Given the description of an element on the screen output the (x, y) to click on. 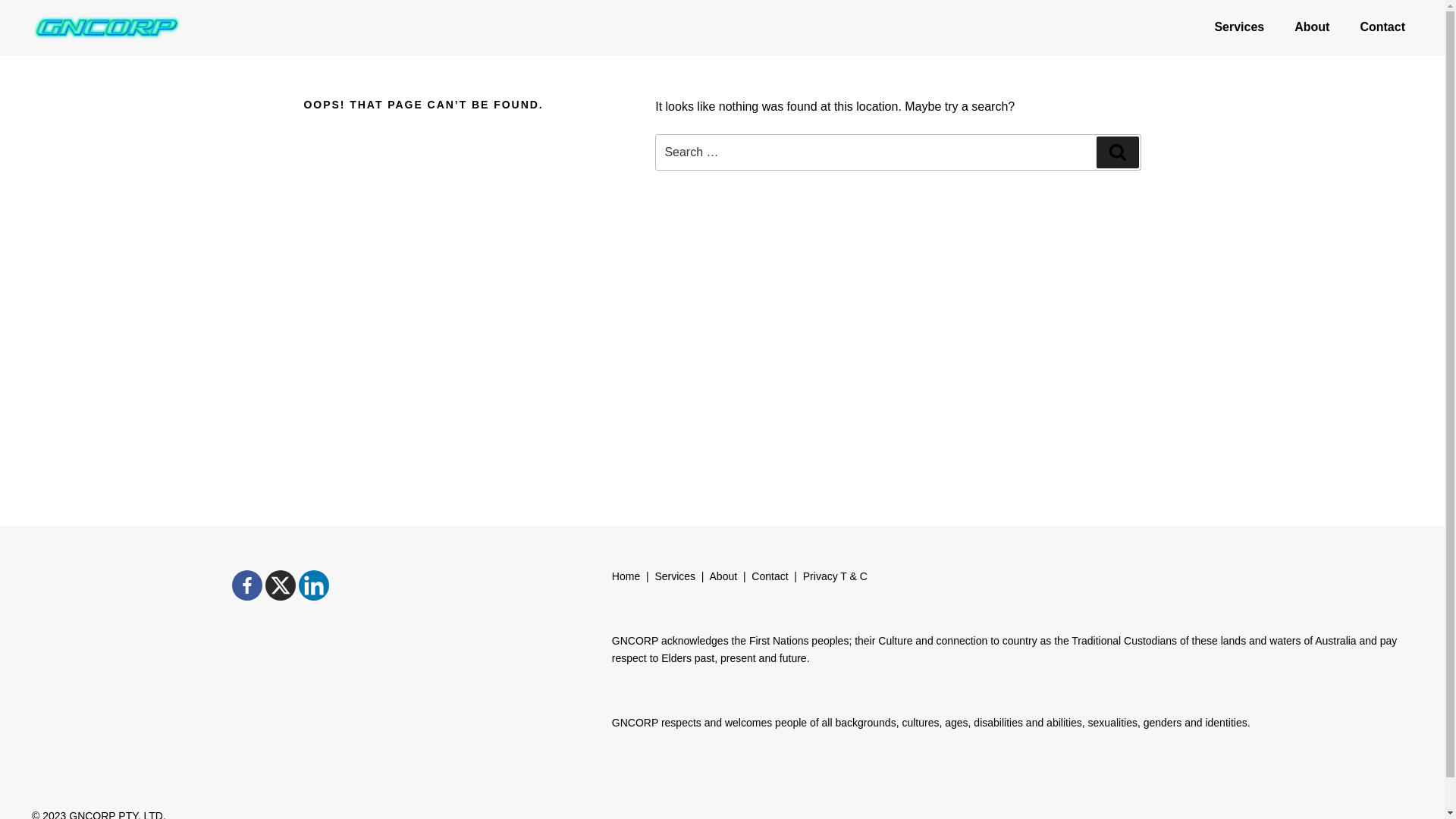
Contact Element type: text (1382, 27)
Business Ideas Consulting Element type: text (125, 64)
Search Element type: text (1117, 152)
About Element type: text (723, 576)
Facebook Element type: hover (247, 585)
X Element type: hover (280, 585)
Services Element type: text (674, 576)
Services Element type: text (1238, 27)
Contact Element type: text (769, 576)
Linkedin Company Element type: hover (313, 585)
Home Element type: text (625, 576)
Privacy T & C Element type: text (835, 576)
About Element type: text (1311, 27)
